Given the description of an element on the screen output the (x, y) to click on. 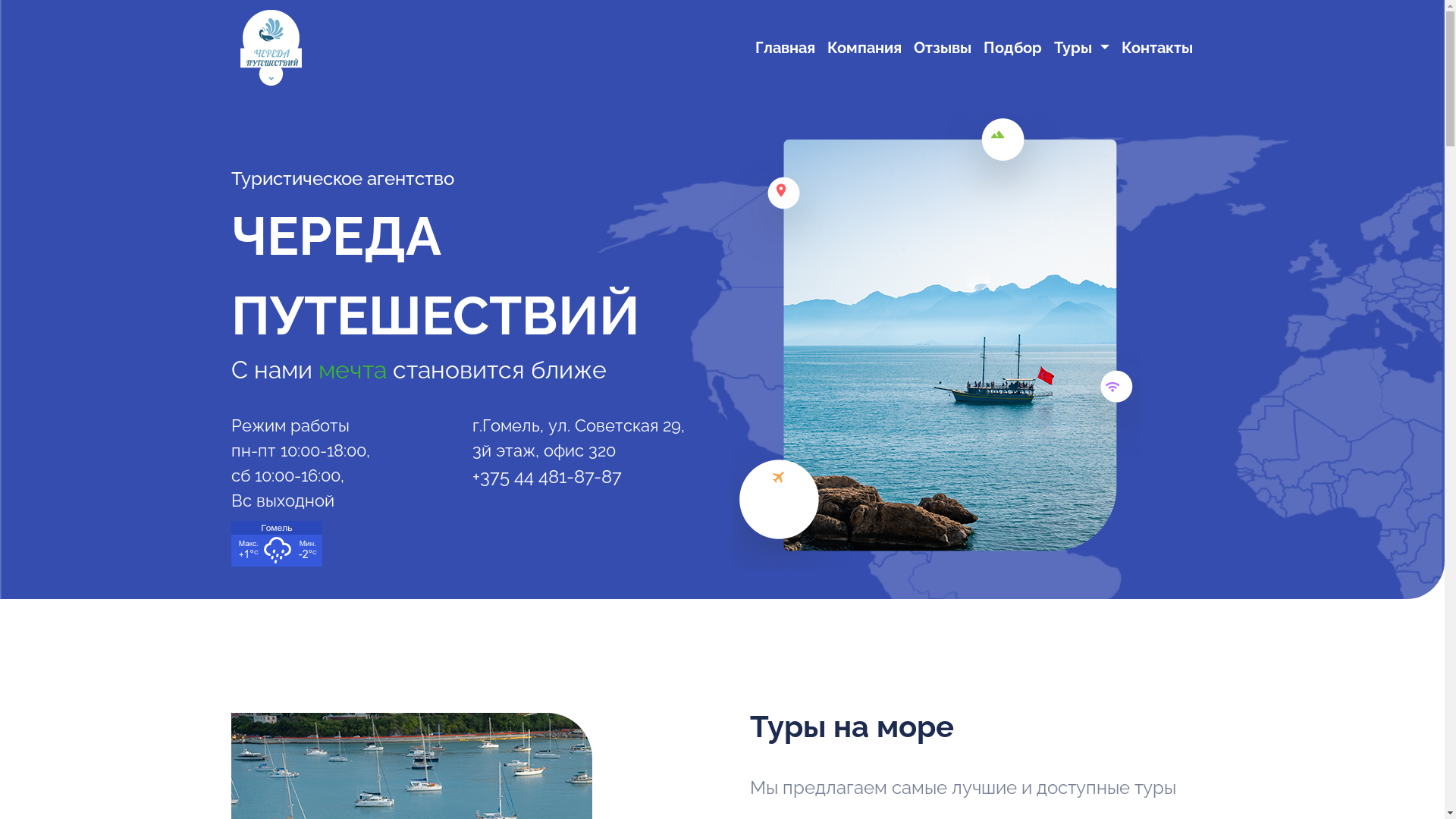
+375 44 481-87-87 Element type: text (546, 476)
